Given the description of an element on the screen output the (x, y) to click on. 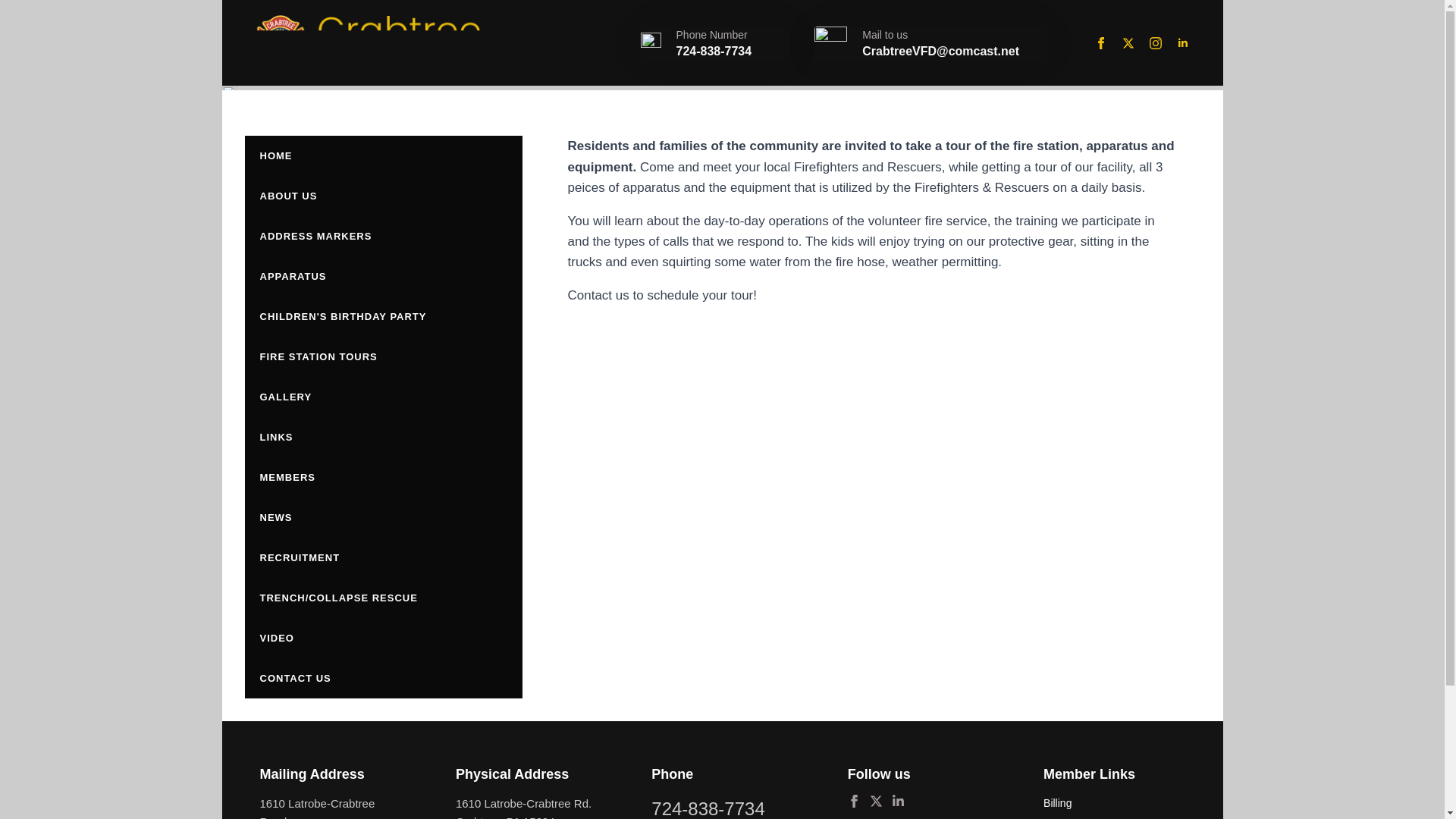
VIDEO (382, 638)
CHILDREN'S BIRTHDAY PARTY (382, 316)
MEMBERS (382, 477)
ABOUT US (382, 196)
RECRUITMENT (382, 557)
APPARATUS (382, 276)
HOME (382, 155)
FIRE STATION TOURS (382, 356)
ADDRESS MARKERS (382, 236)
LINKS (382, 436)
